Given the description of an element on the screen output the (x, y) to click on. 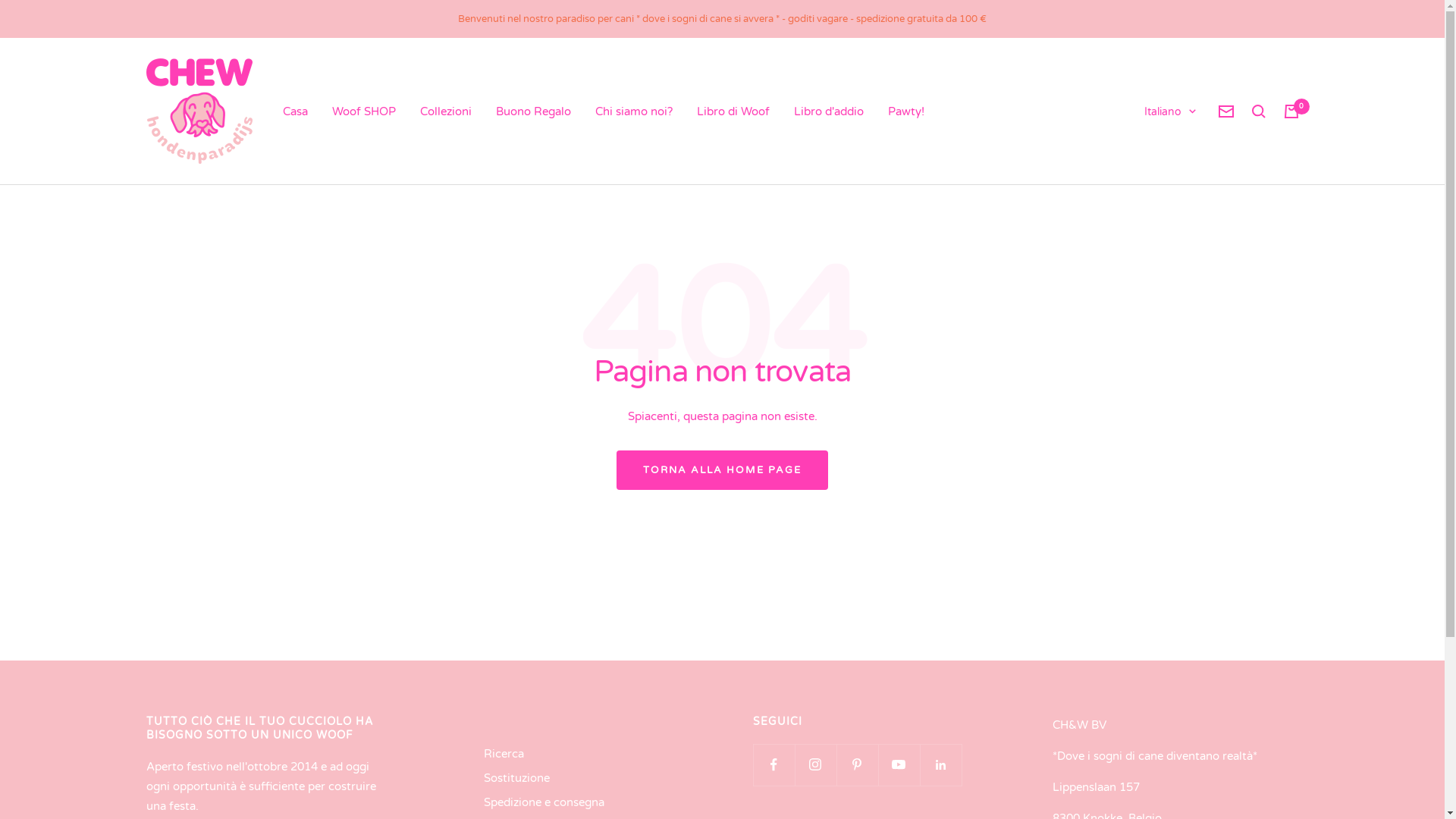
Newsletter Element type: text (1225, 110)
it Element type: text (1153, 263)
TORNA ALLA HOME PAGE Element type: text (722, 469)
Chi siamo noi? Element type: text (632, 111)
en Element type: text (1153, 188)
Italiano Element type: text (1169, 112)
Spedizione e consegna Element type: text (543, 802)
CHEW - Hondenparadijs Element type: text (198, 110)
Sostituzione Element type: text (516, 777)
Woof SHOP Element type: text (363, 111)
Ricerca Element type: text (503, 753)
de Element type: text (1153, 238)
Casa Element type: text (294, 111)
Buono Regalo Element type: text (533, 111)
Libro d'addio Element type: text (827, 111)
Collezioni Element type: text (445, 111)
fr Element type: text (1153, 212)
0 Element type: text (1290, 111)
Pawty! Element type: text (905, 111)
Libro di Woof Element type: text (732, 111)
nl Element type: text (1153, 162)
